Given the description of an element on the screen output the (x, y) to click on. 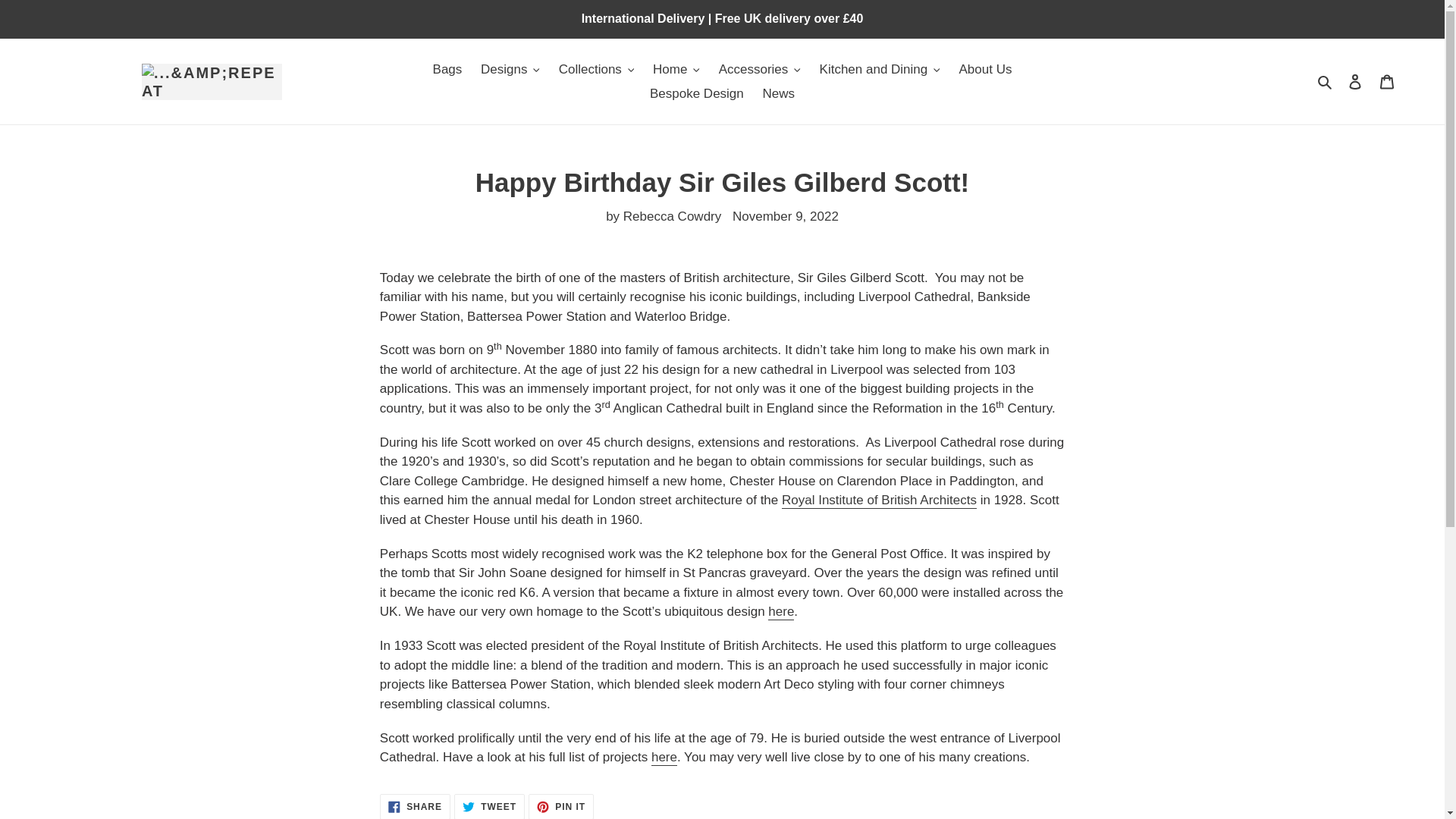
Collections (596, 69)
Home (676, 69)
Accessories (759, 69)
Designs (510, 69)
Bags (447, 69)
The works of Sir Giles Gilberd Scott (663, 757)
Kitchen and Dining (879, 69)
